Given the description of an element on the screen output the (x, y) to click on. 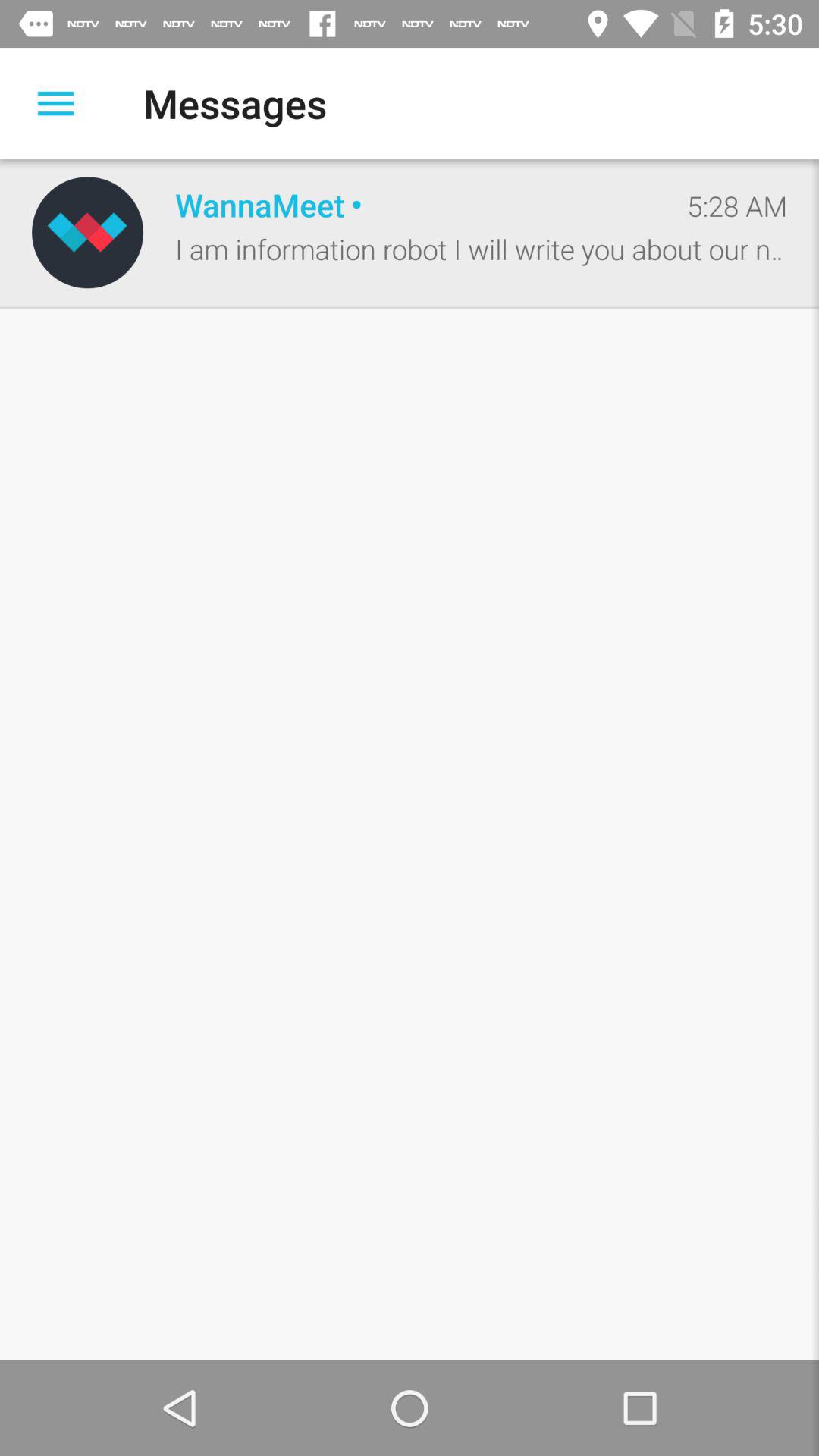
swipe to 5:28 am item (737, 205)
